Given the description of an element on the screen output the (x, y) to click on. 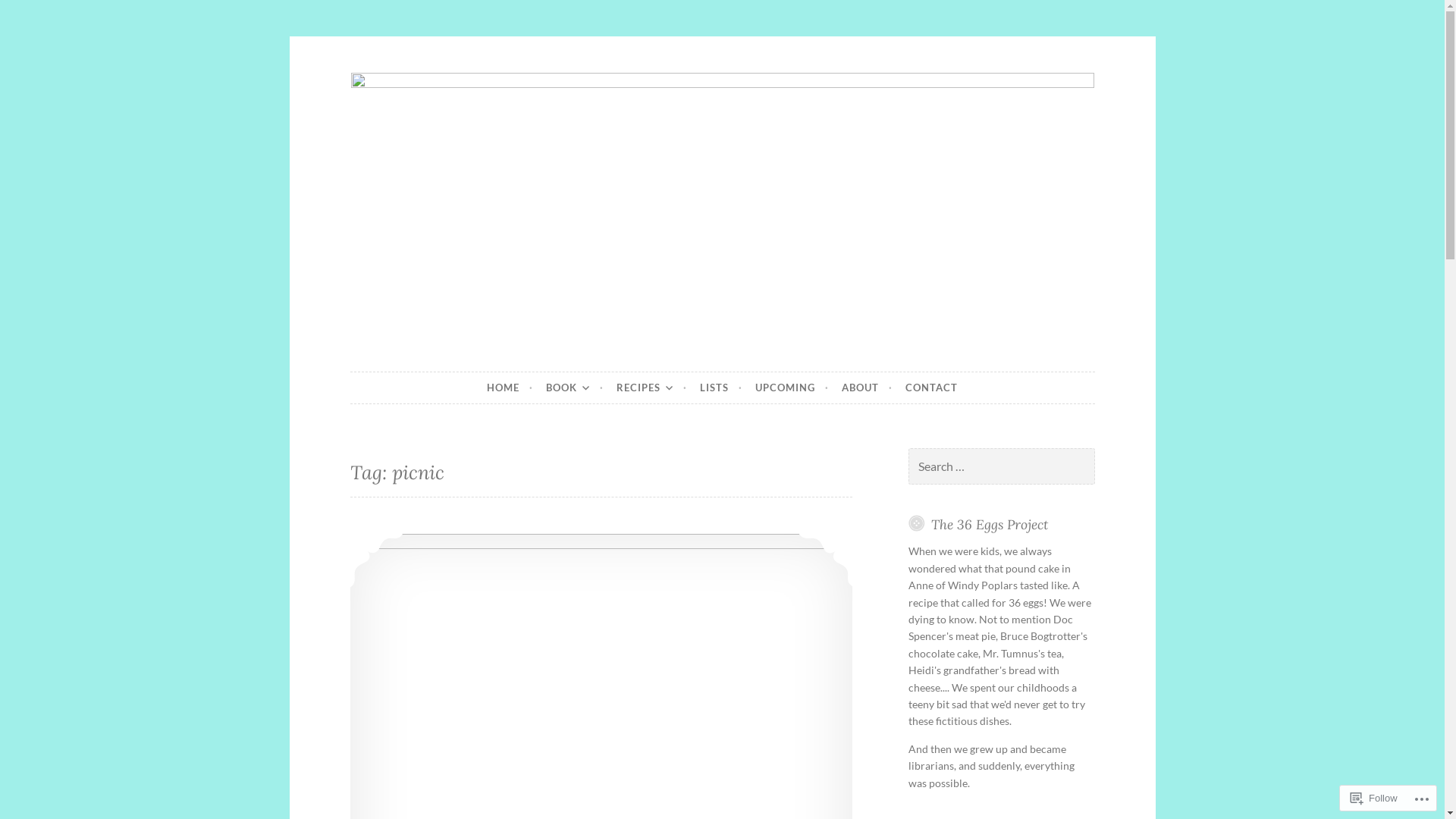
UPCOMING Element type: text (791, 387)
36 Eggs Element type: text (414, 371)
RECIPES Element type: text (651, 387)
BOOK Element type: text (574, 387)
Follow Element type: text (1373, 797)
CONTACT Element type: text (931, 387)
LISTS Element type: text (720, 387)
HOME Element type: text (509, 387)
ABOUT Element type: text (866, 387)
Search Element type: text (32, 14)
